Given the description of an element on the screen output the (x, y) to click on. 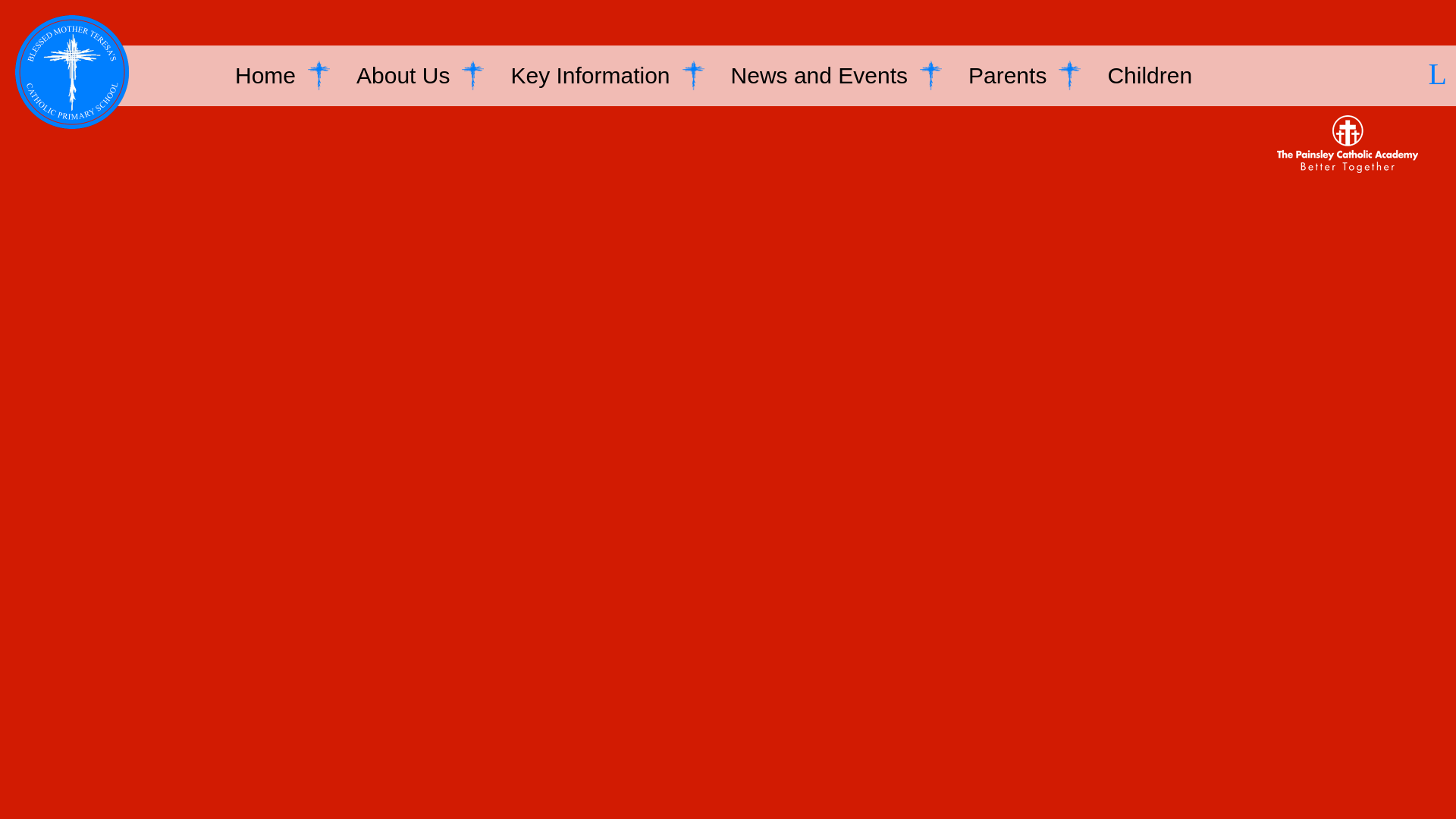
Home Page (72, 72)
Home (264, 75)
About Us (402, 75)
Key Information (590, 75)
